Given the description of an element on the screen output the (x, y) to click on. 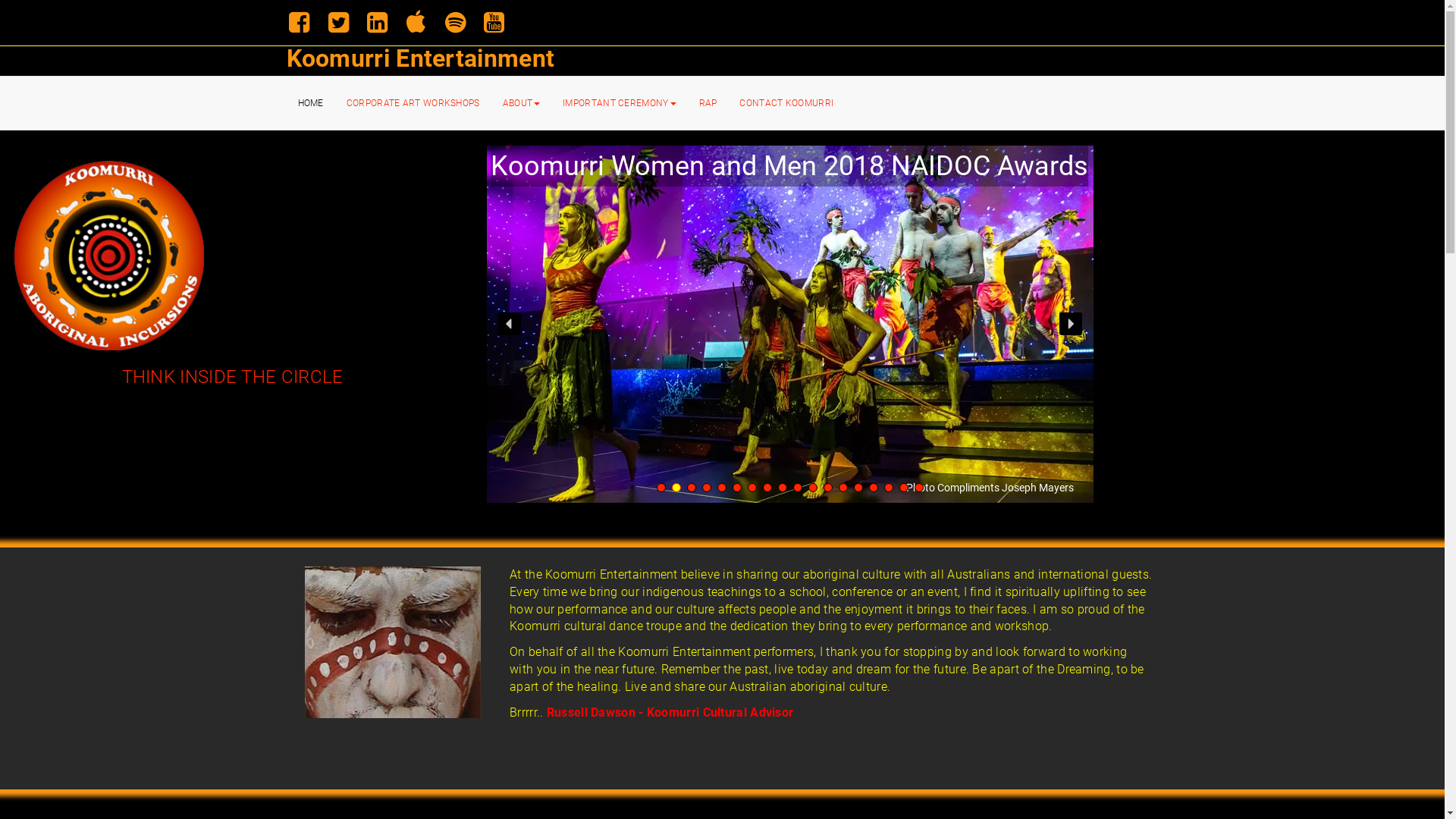
ABOUT Element type: text (521, 102)
CONTACT KOOMURRI Element type: text (786, 102)
Koomurri Cultural Advisor - Russell Dawson Element type: hover (392, 642)
Koomurri Men and Women Dancers - NAIDOC Ball Element type: hover (789, 323)
CORPORATE ART WORKSHOPS Element type: text (413, 102)
HOME Element type: text (310, 102)
Book Performance and Team Building Programs Element type: hover (108, 255)
Koomurri Entertainment Element type: text (420, 58)
IMPORTANT CEREMONY Element type: text (619, 102)
RAP Element type: text (707, 102)
